Given the description of an element on the screen output the (x, y) to click on. 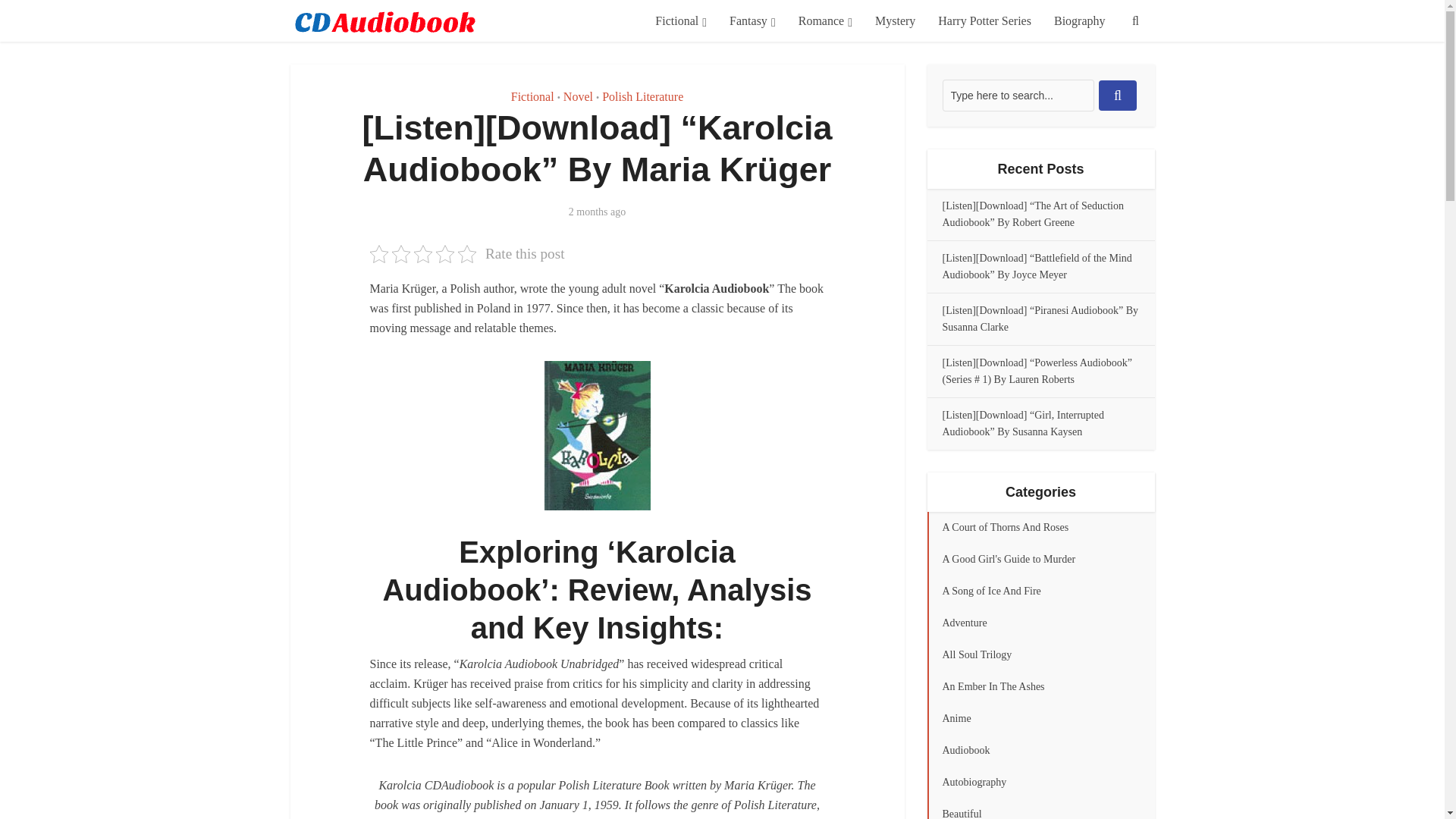
Harry Potter Series (984, 20)
Novel (577, 96)
CDAudiobook (384, 18)
Fictional (532, 96)
Fictional (680, 20)
Polish Literature (642, 96)
Romance (825, 20)
Mystery (894, 20)
Type here to search... (1017, 95)
Type here to search... (1017, 95)
Biography (1079, 20)
Fantasy (752, 20)
